Given the description of an element on the screen output the (x, y) to click on. 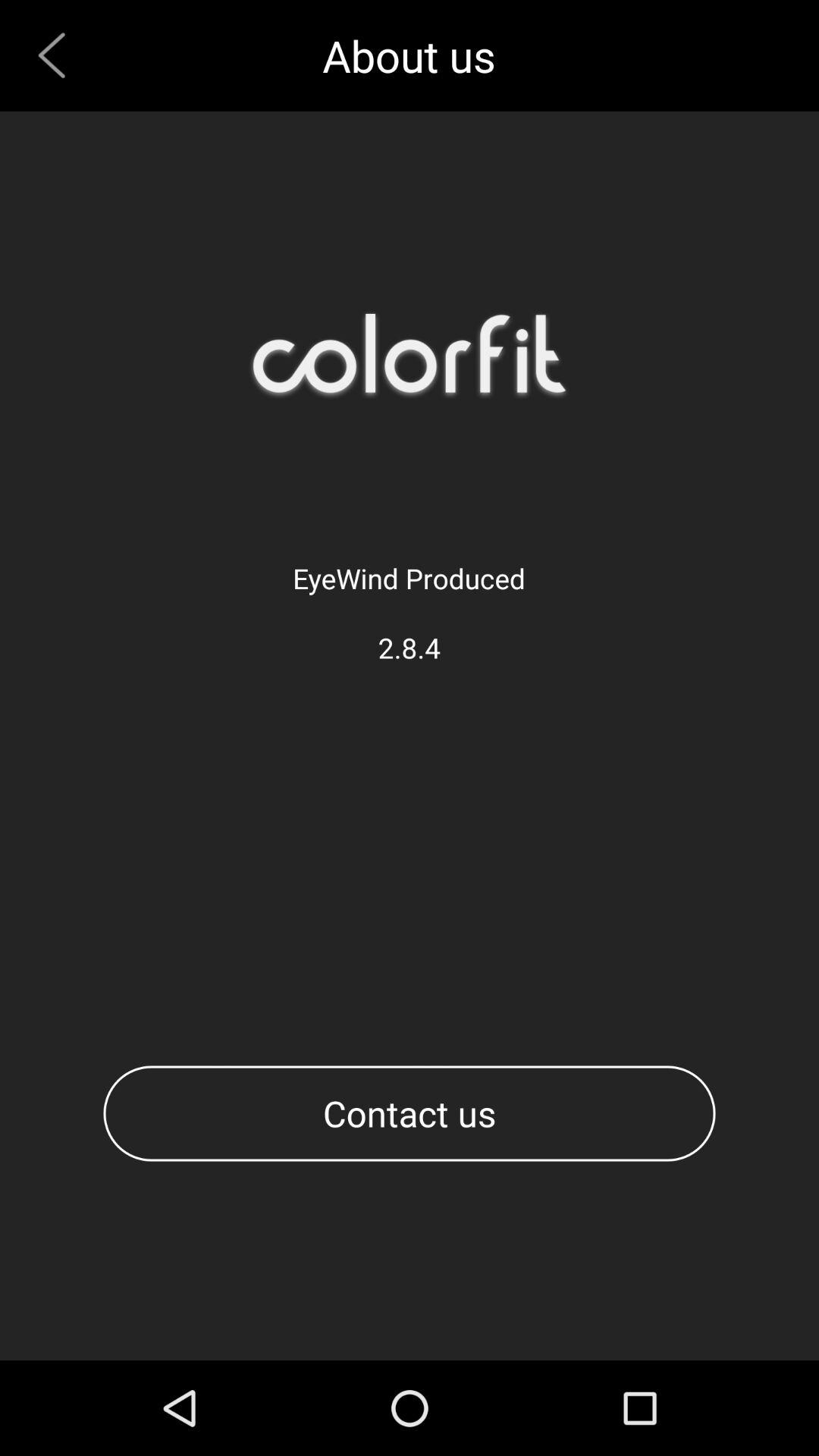
turn off the icon above contact us (57, 55)
